Given the description of an element on the screen output the (x, y) to click on. 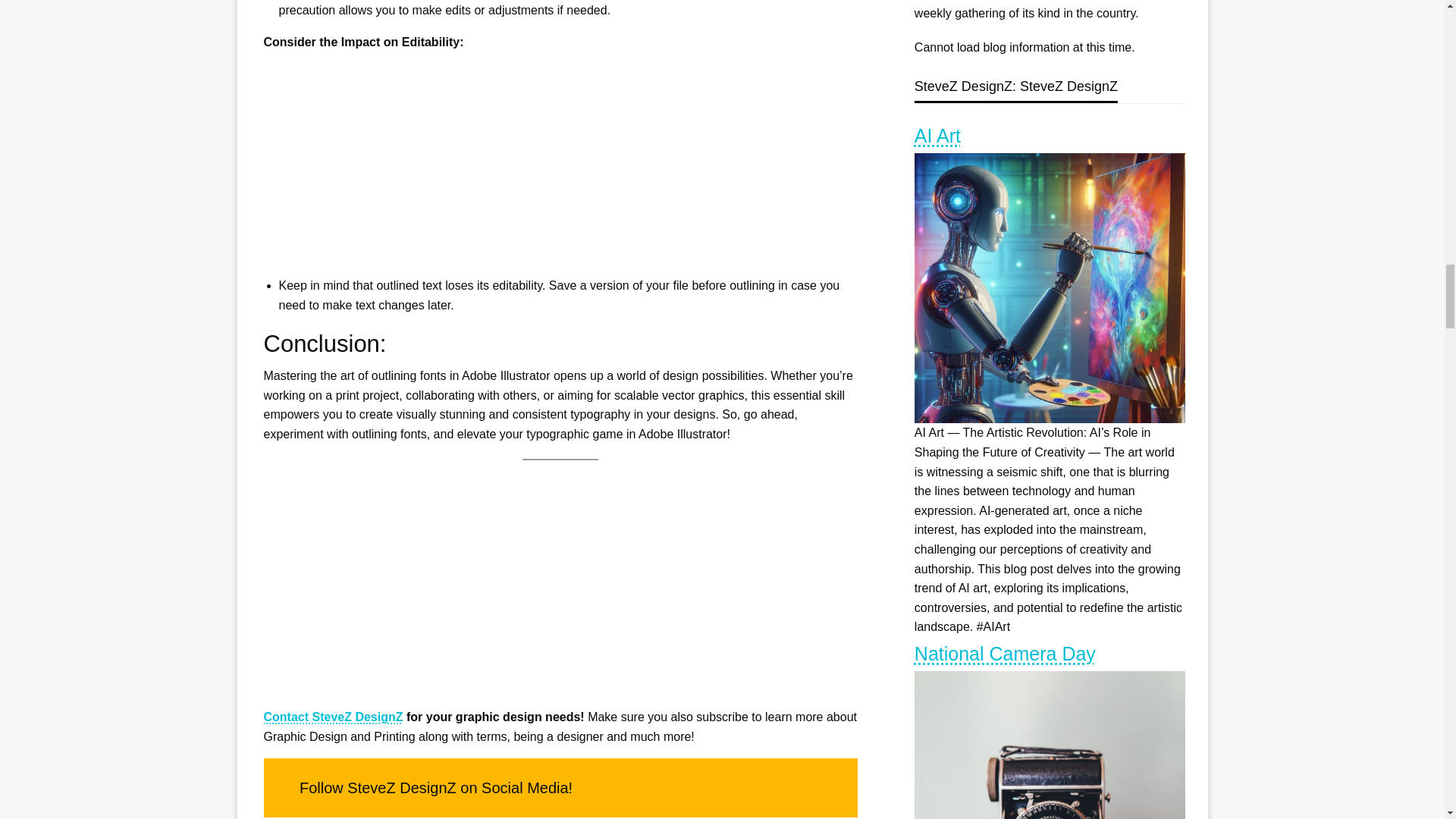
Contact SteveZ DesignZ (333, 716)
